Given the description of an element on the screen output the (x, y) to click on. 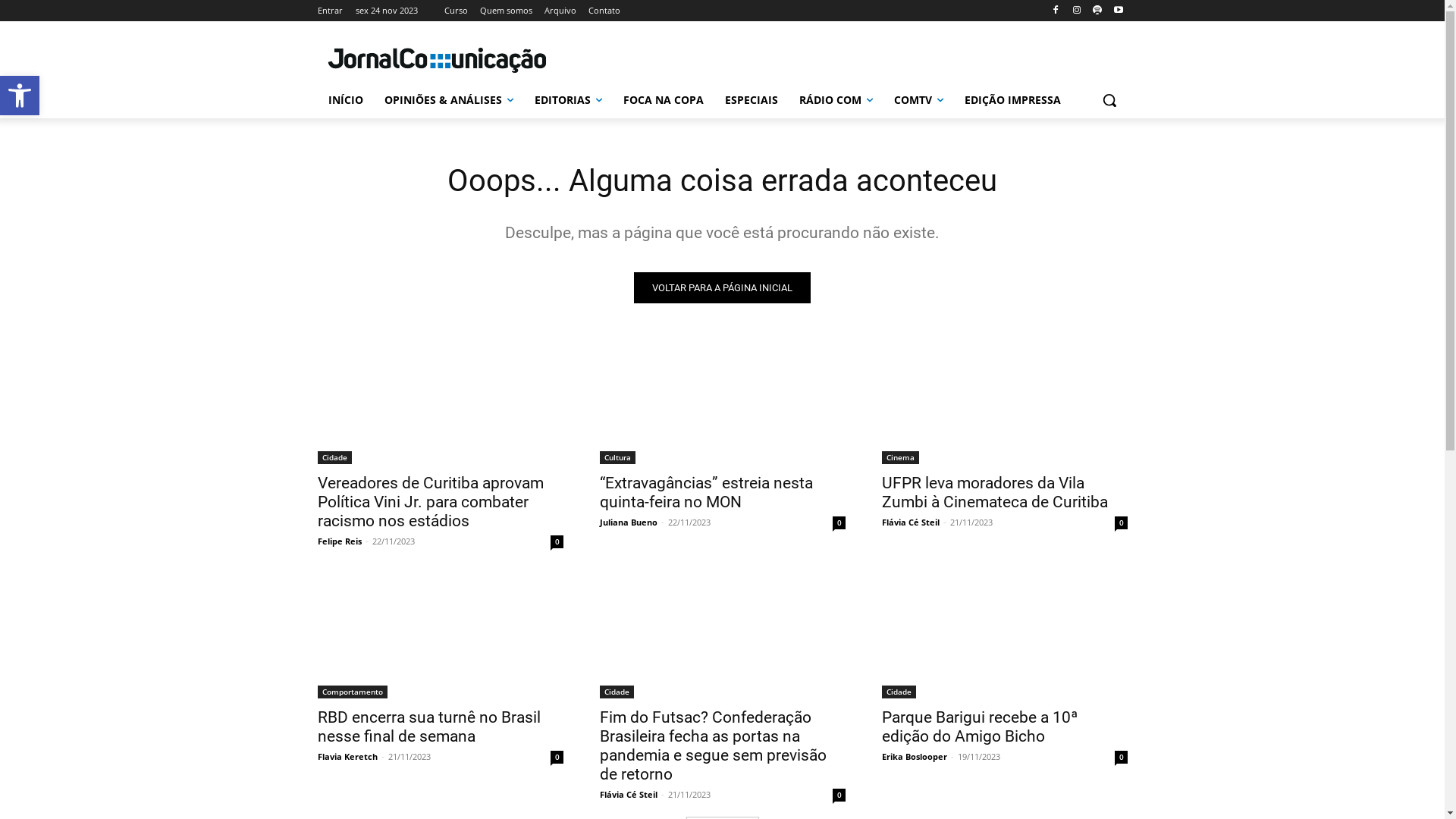
0 Element type: text (838, 522)
Cidade Element type: text (898, 691)
0 Element type: text (556, 541)
Flavia Keretch Element type: text (346, 756)
Cidade Element type: text (616, 691)
0 Element type: text (838, 794)
Cultura Element type: text (616, 457)
Facebook Element type: hover (1054, 9)
COMTV Element type: text (917, 99)
Cidade Element type: text (333, 457)
Youtube Element type: hover (1118, 9)
ESPECIAIS Element type: text (751, 99)
0 Element type: text (1120, 522)
Spotify Element type: hover (1097, 9)
0 Element type: text (1120, 756)
Juliana Bueno Element type: text (627, 521)
Curso Element type: text (455, 10)
Arquivo Element type: text (560, 10)
EDITORIAS Element type: text (567, 99)
Barra de Ferramentas Aberta
Acessibilidade Element type: text (19, 95)
Felipe Reis Element type: text (338, 540)
Contato Element type: text (604, 10)
Cinema Element type: text (899, 457)
FOCA NA COPA Element type: text (663, 99)
Comportamento Element type: text (351, 691)
Instagram Element type: hover (1076, 9)
0 Element type: text (556, 756)
Erika Boslooper Element type: text (913, 756)
Quem somos Element type: text (505, 10)
Entrar Element type: text (329, 10)
